Given the description of an element on the screen output the (x, y) to click on. 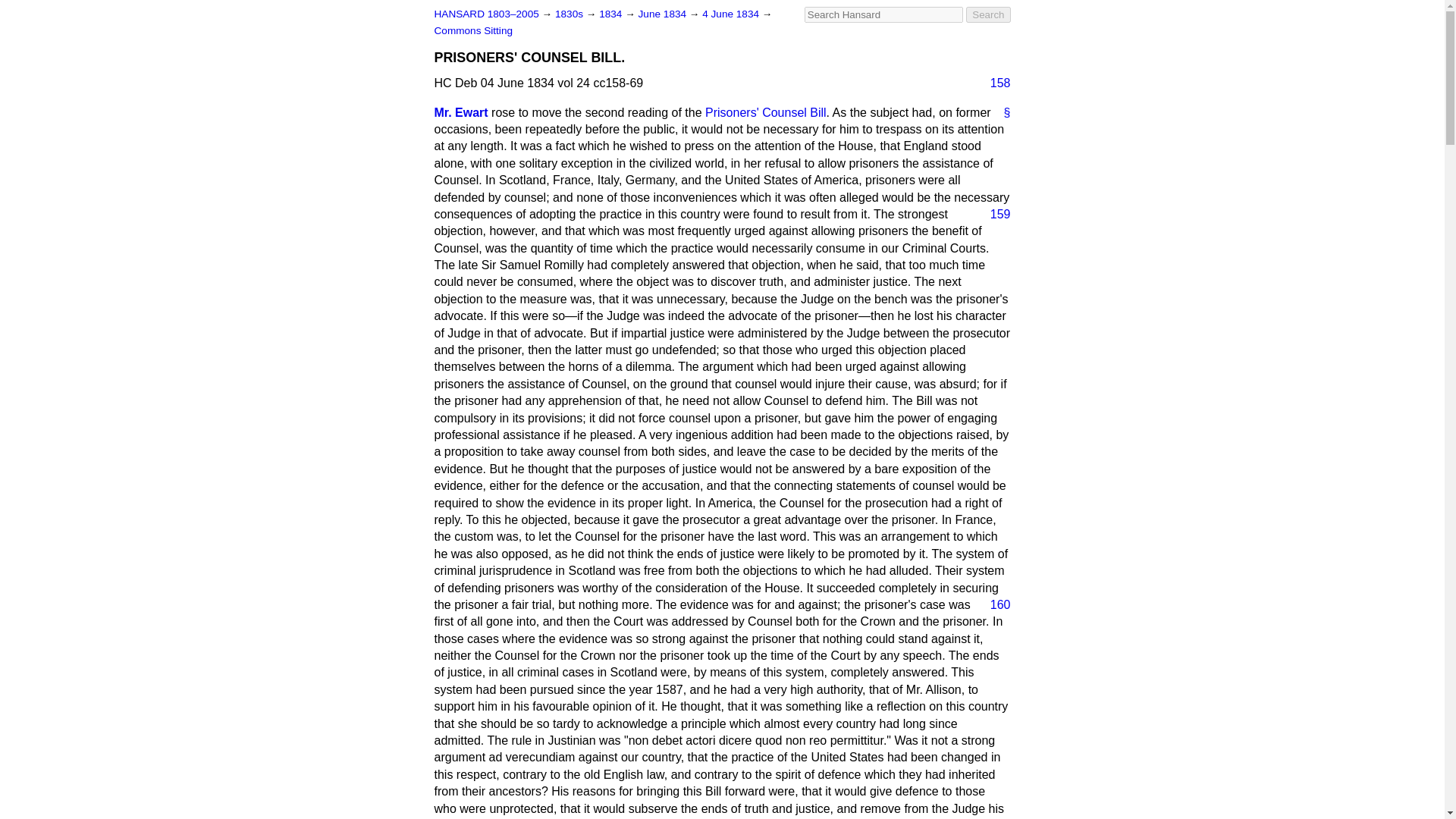
159 (994, 214)
June 1834 (663, 13)
Search (988, 14)
4 June 1834 (731, 13)
Access key: S (883, 14)
Prisoners' Counsel Bill (765, 112)
Mr. Ewart (460, 112)
Link to this speech by Mr William Ewart (1000, 112)
1830s (570, 13)
160 (994, 605)
